Given the description of an element on the screen output the (x, y) to click on. 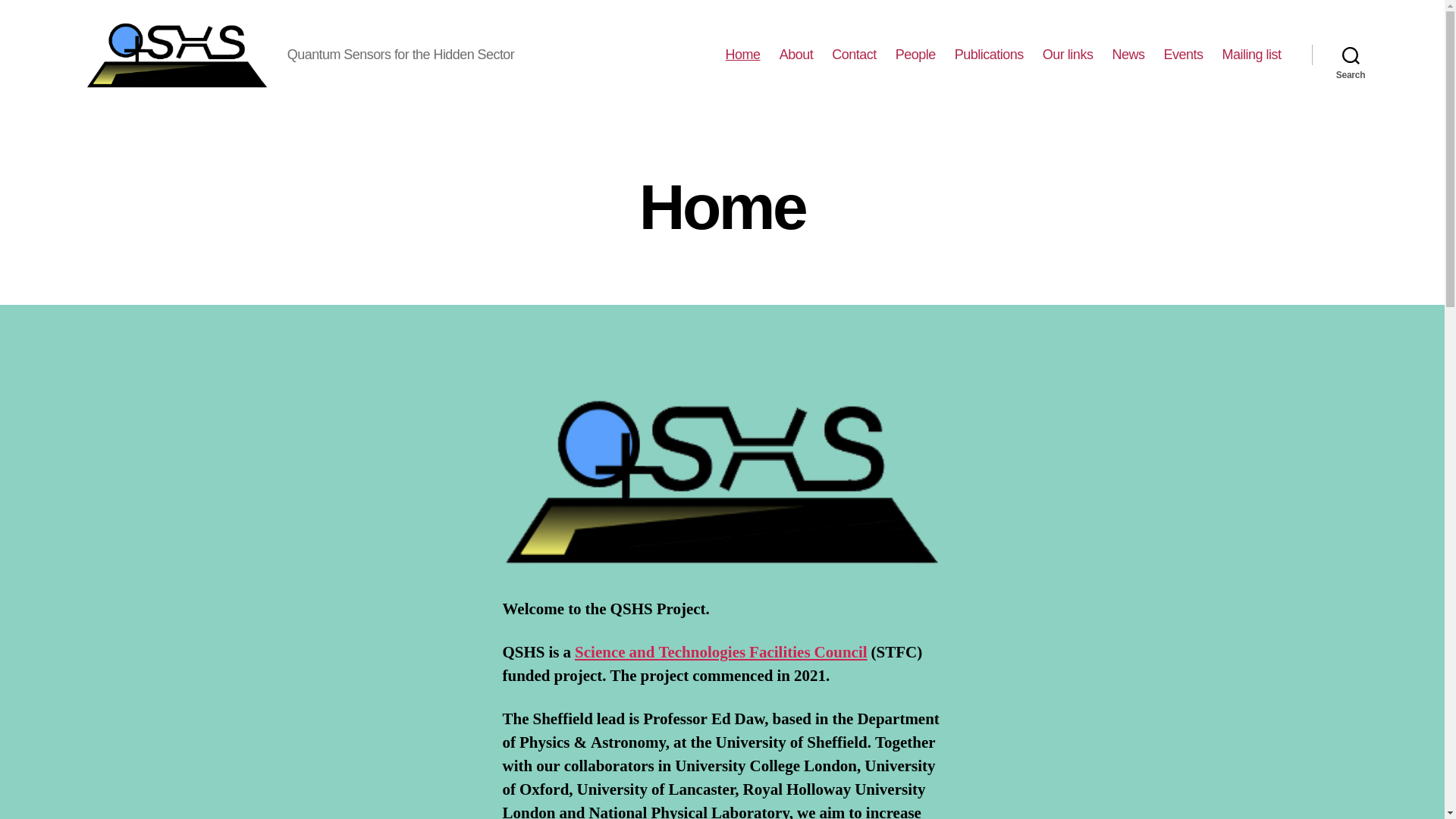
Mailing list (1251, 54)
Home (742, 54)
News (1128, 54)
Events (1182, 54)
Science and Technologies Facilities Council (721, 652)
People (915, 54)
Our links (1067, 54)
About (795, 54)
Search (1350, 55)
Contact (853, 54)
